Given the description of an element on the screen output the (x, y) to click on. 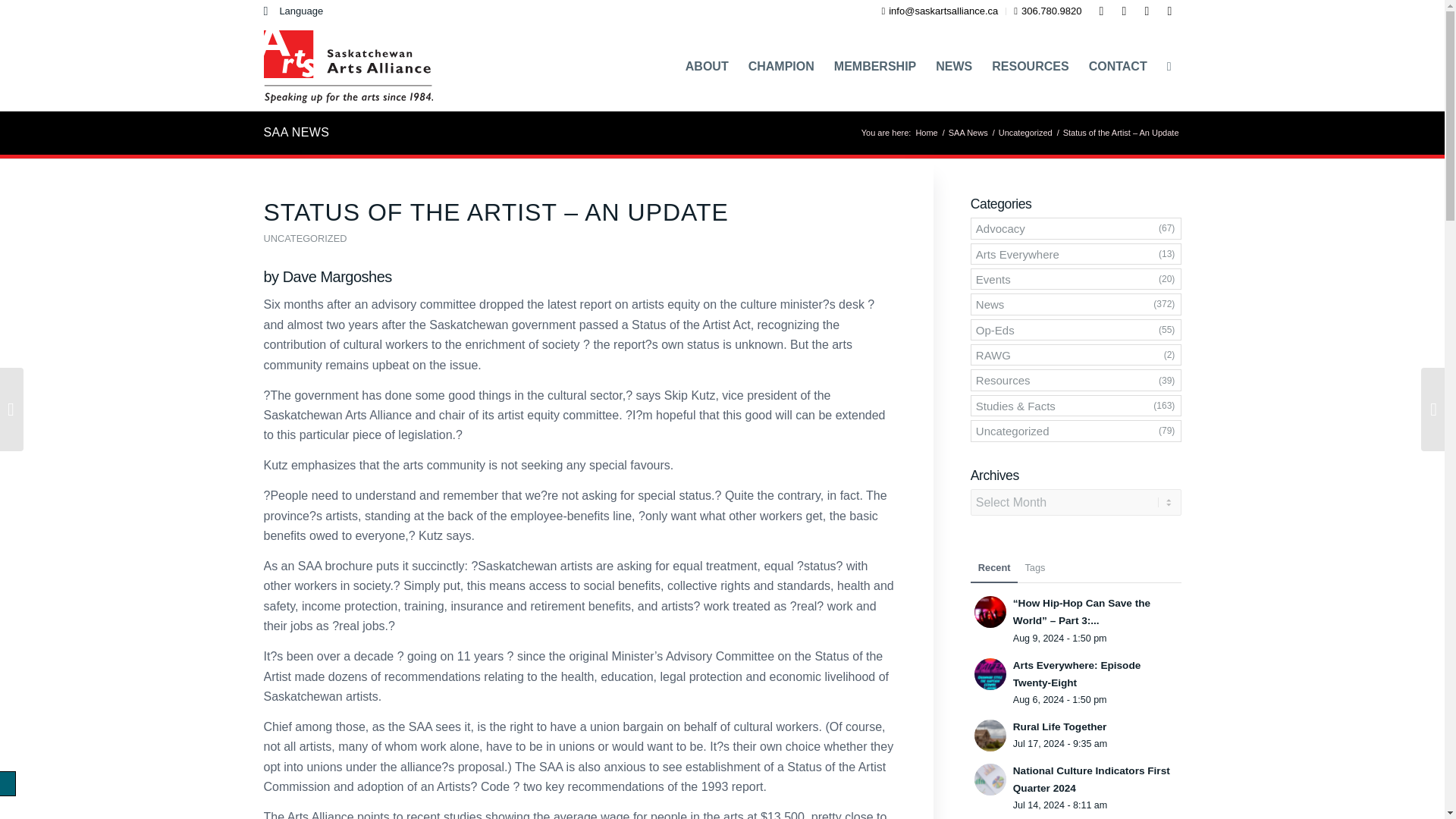
CHAMPION (781, 66)
Facebook (1101, 11)
Permanent Link: SAA News (296, 132)
Instagram (1124, 11)
Youtube (1169, 11)
SAA News (968, 132)
X (1146, 11)
306.780.9820 (1047, 11)
